Given the description of an element on the screen output the (x, y) to click on. 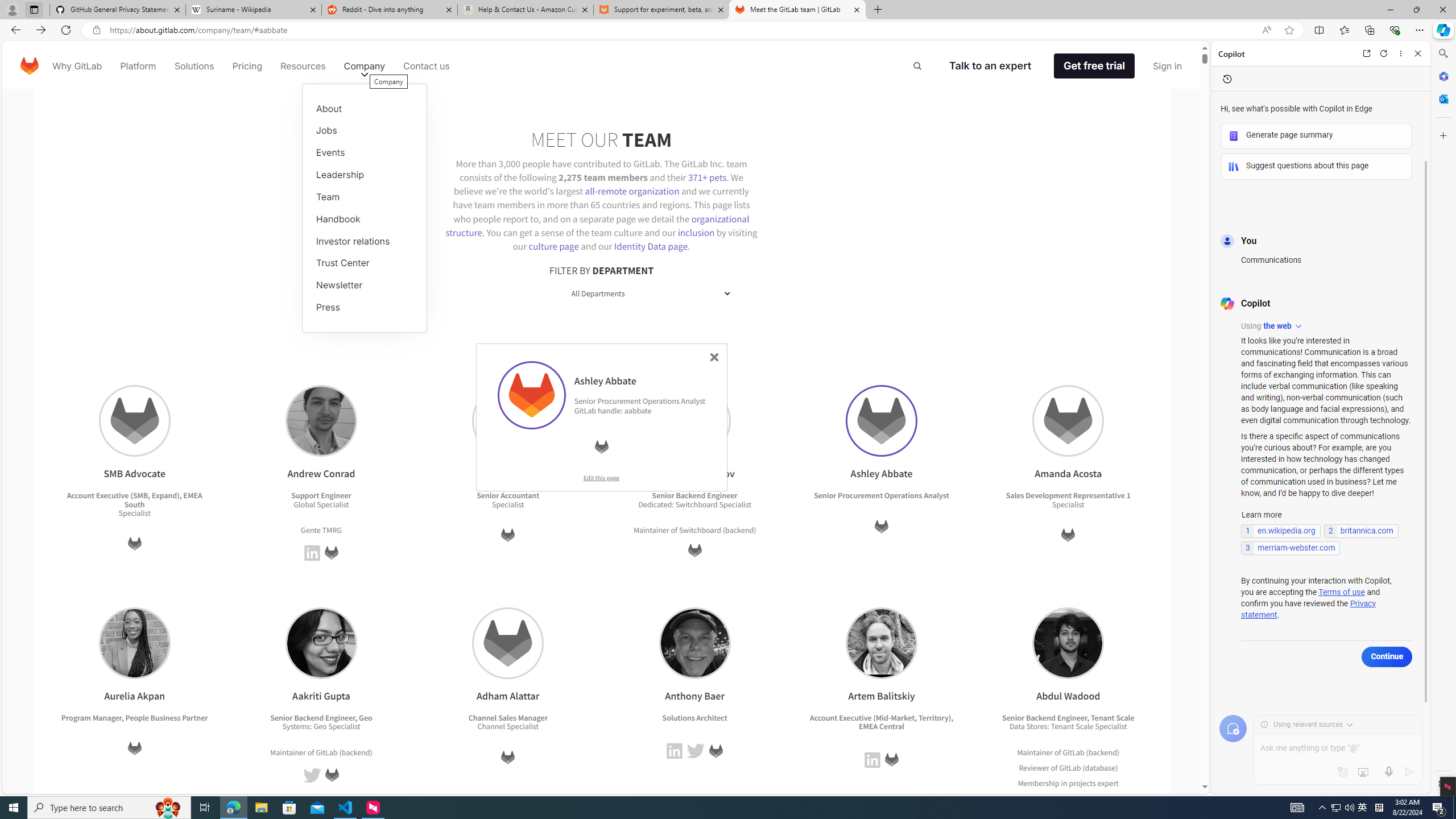
Resources (302, 65)
Ashley Abbate (880, 420)
Get free trial (1094, 65)
Abdul Wadood (1068, 642)
Why GitLab (77, 65)
Reviewer of GitLab (database) (1067, 767)
Why GitLab (77, 65)
Solutions Architect (695, 717)
